Given the description of an element on the screen output the (x, y) to click on. 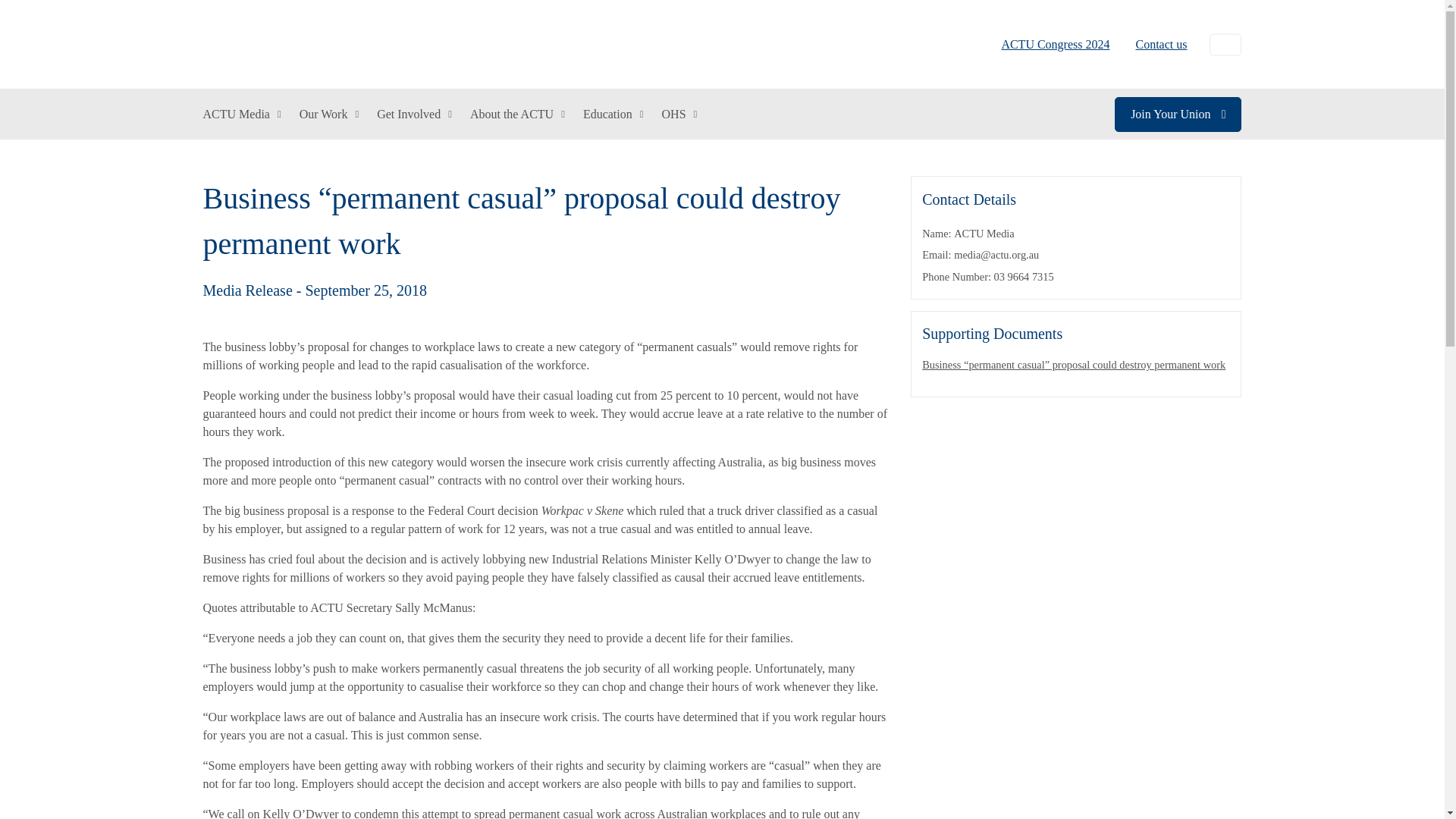
ACTU Congress 2024 (1055, 43)
ACTU Media (242, 114)
Contact us (1155, 43)
ACTU Congress 2024 (1055, 43)
Contact us (1155, 43)
Join Your Union (1178, 114)
